Given the description of an element on the screen output the (x, y) to click on. 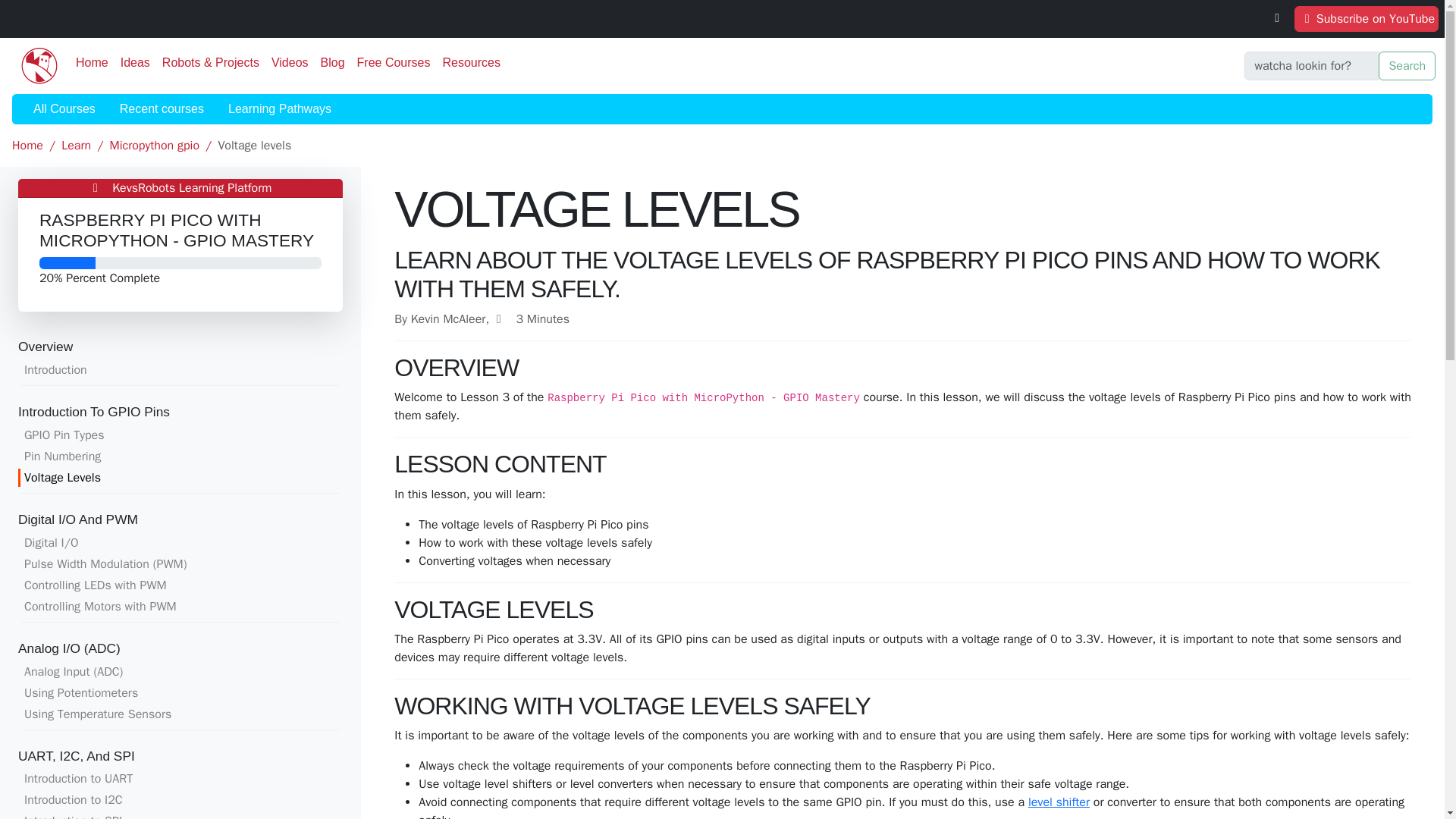
Home (92, 62)
Ideas (135, 62)
Subscribe on YouTube (1366, 18)
